Given the description of an element on the screen output the (x, y) to click on. 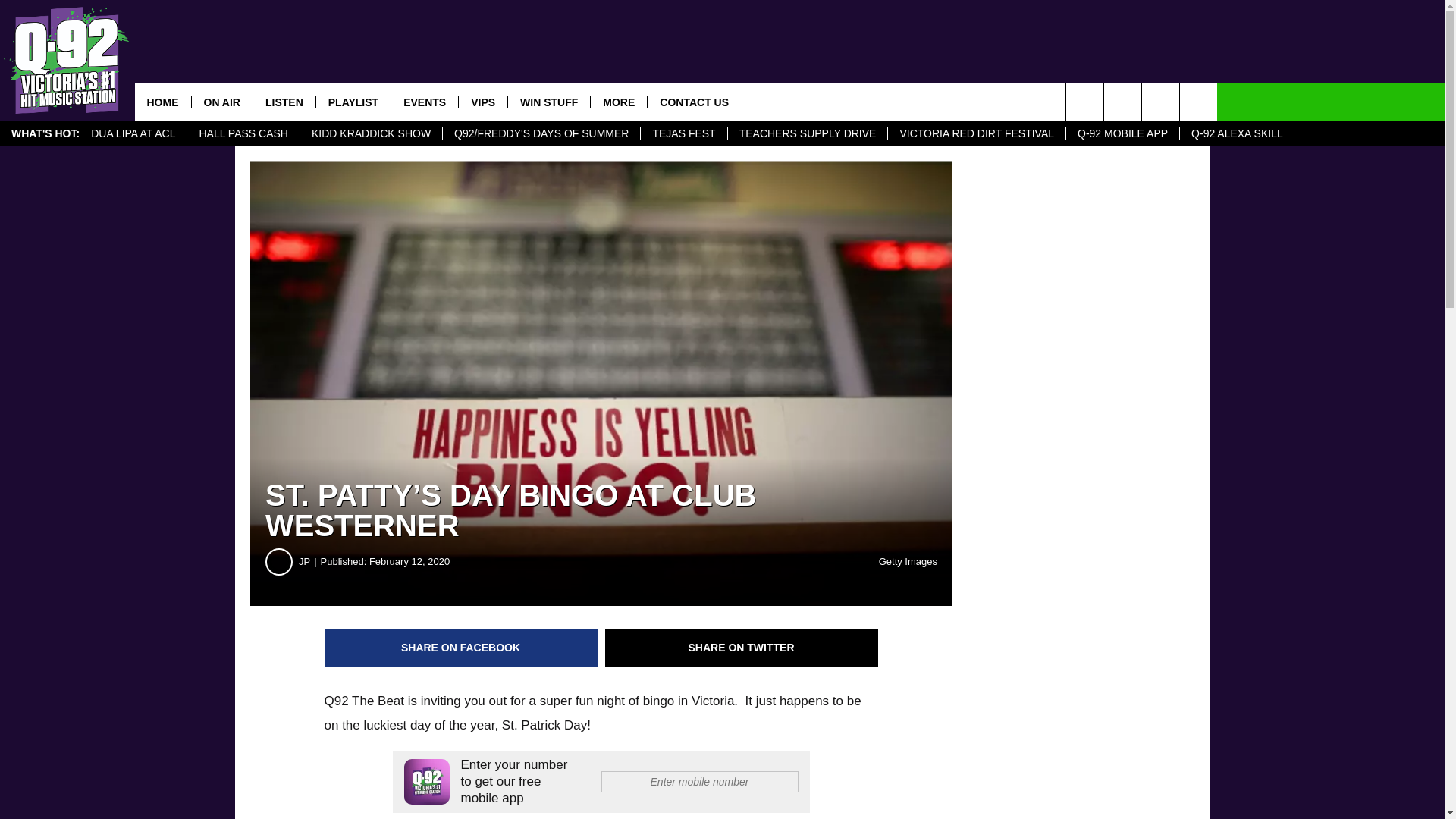
EVENTS (424, 102)
WIN STUFF (547, 102)
ON AIR (220, 102)
TEJAS FEST (683, 133)
CONTACT US (693, 102)
Q-92 ALEXA SKILL (1236, 133)
KIDD KRADDICK SHOW (370, 133)
VICTORIA RED DIRT FESTIVAL (975, 133)
TEACHERS SUPPLY DRIVE (807, 133)
VIPS (482, 102)
HALL PASS CASH (242, 133)
Q-92 MOBILE APP (1122, 133)
Share on Facebook (460, 647)
Share on Twitter (741, 647)
MORE (617, 102)
